Given the description of an element on the screen output the (x, y) to click on. 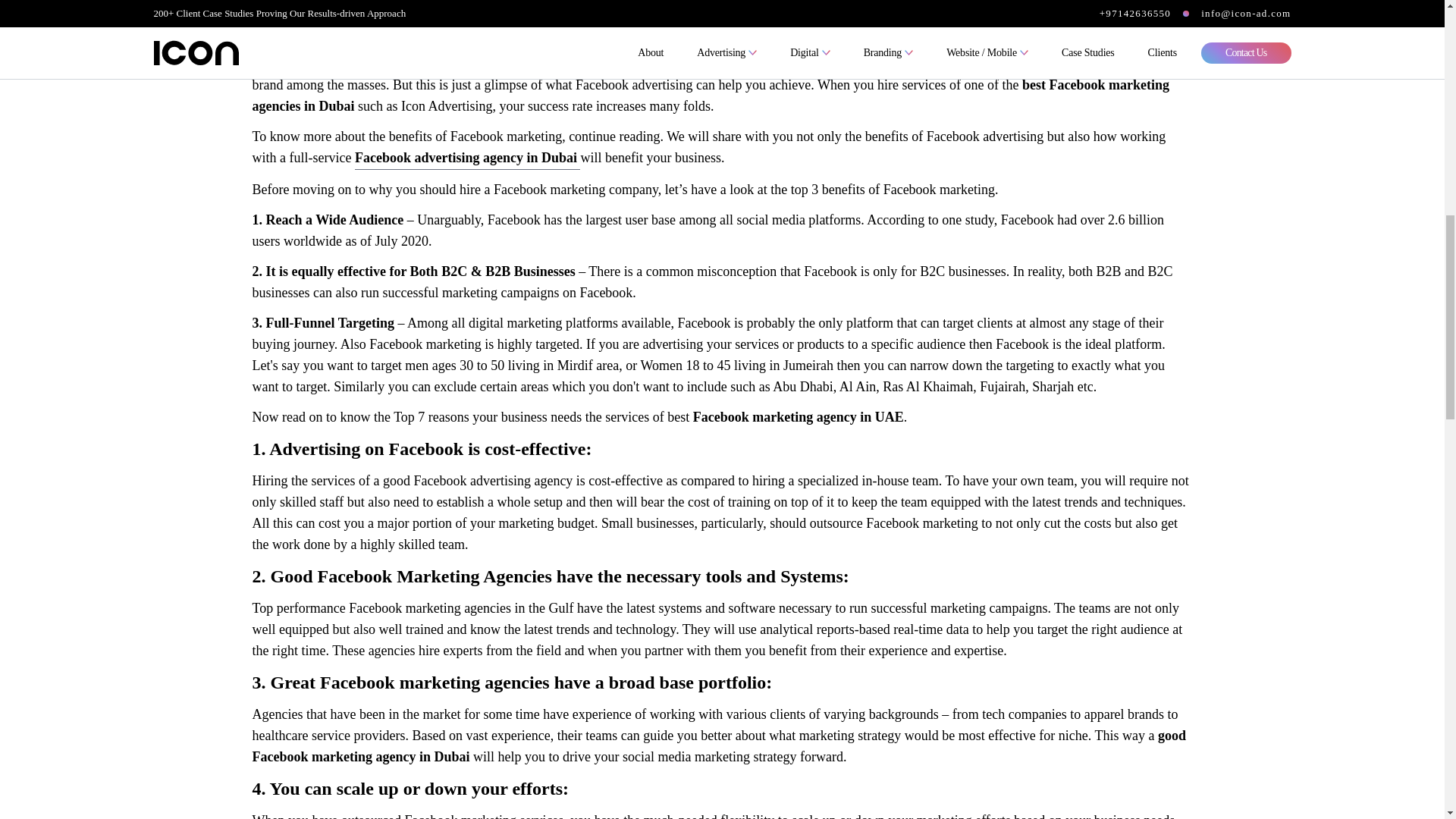
Facebook advertising agency in Dubai  (467, 158)
